Given the description of an element on the screen output the (x, y) to click on. 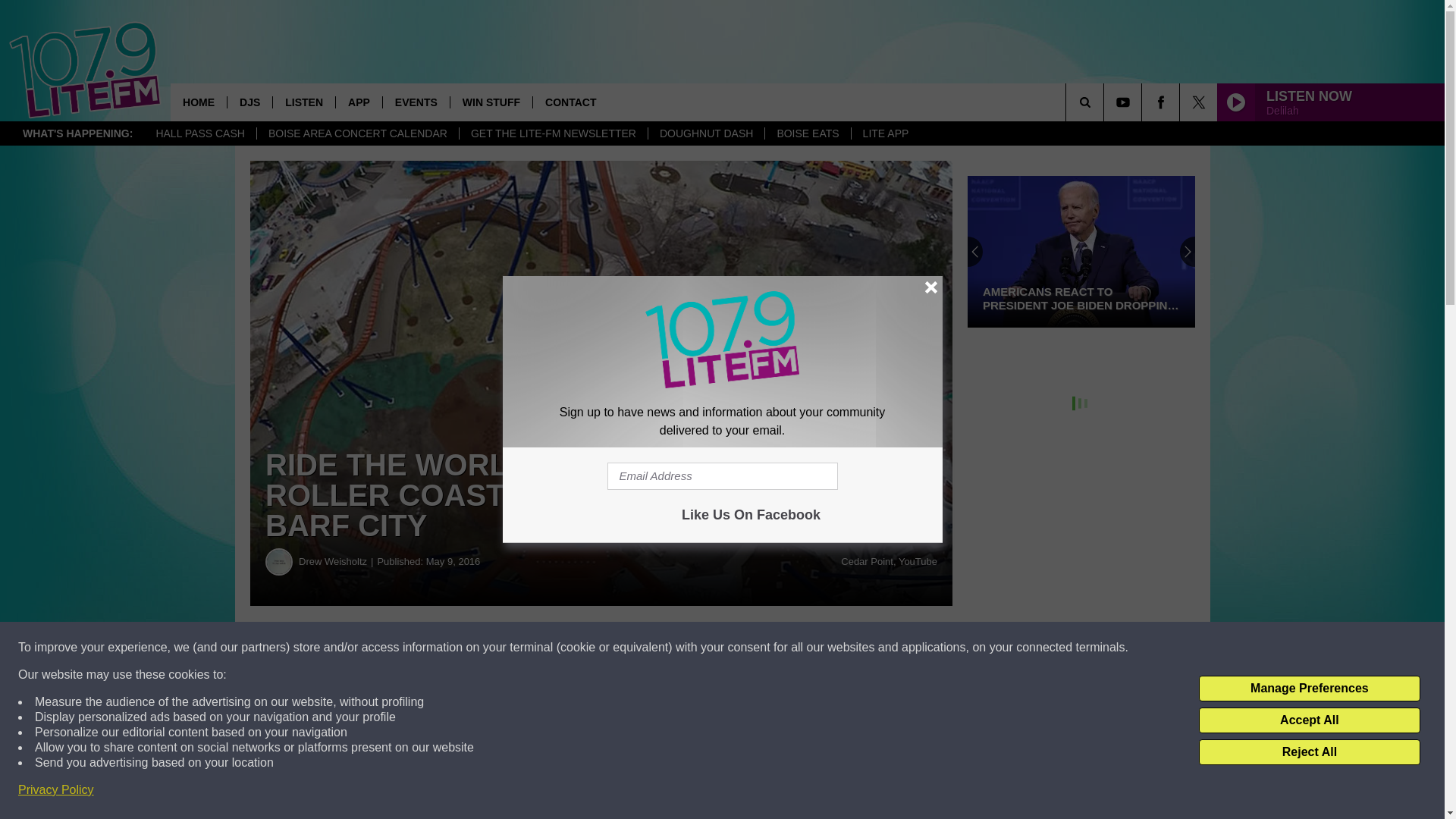
SEARCH (1106, 102)
HOME (198, 102)
BOISE AREA CONCERT CALENDAR (357, 133)
EVENTS (415, 102)
DOUGHNUT DASH (705, 133)
WHAT'S HAPPENING: (77, 133)
LITE APP (885, 133)
Share on Twitter (741, 647)
Email Address (722, 475)
BOISE EATS (807, 133)
GET THE LITE-FM NEWSLETTER (552, 133)
Accept All (1309, 720)
Reject All (1309, 751)
SEARCH (1106, 102)
Share on Facebook (460, 647)
